Given the description of an element on the screen output the (x, y) to click on. 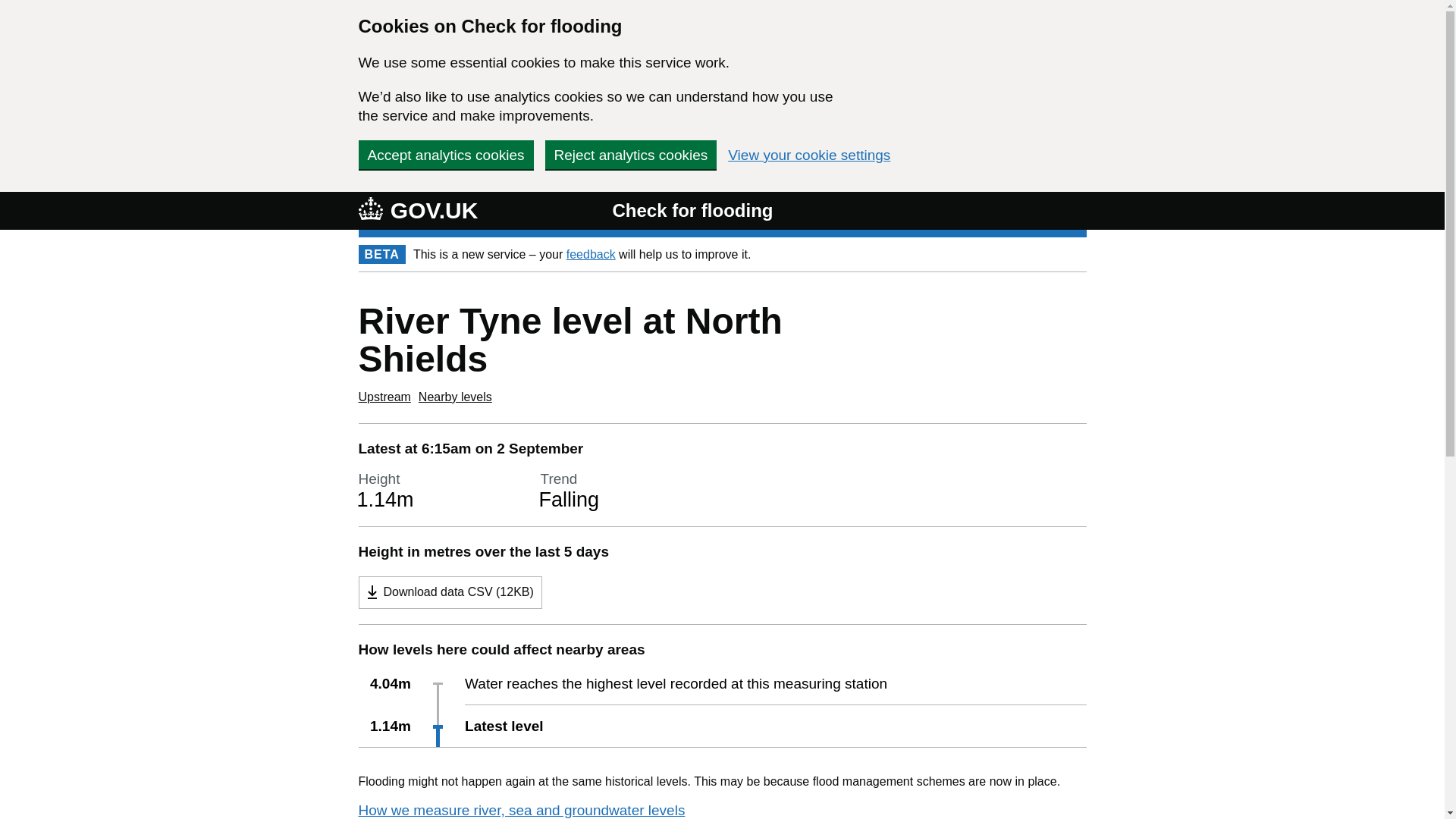
GOV.UK (417, 210)
View your cookie settings (808, 155)
Reject analytics cookies (630, 154)
feedback (590, 253)
Skip to main content (11, 7)
Check for flooding (692, 210)
Upstream (384, 396)
Nearby levels (455, 396)
How we measure river, sea and groundwater levels (521, 810)
Accept analytics cookies (445, 154)
